Given the description of an element on the screen output the (x, y) to click on. 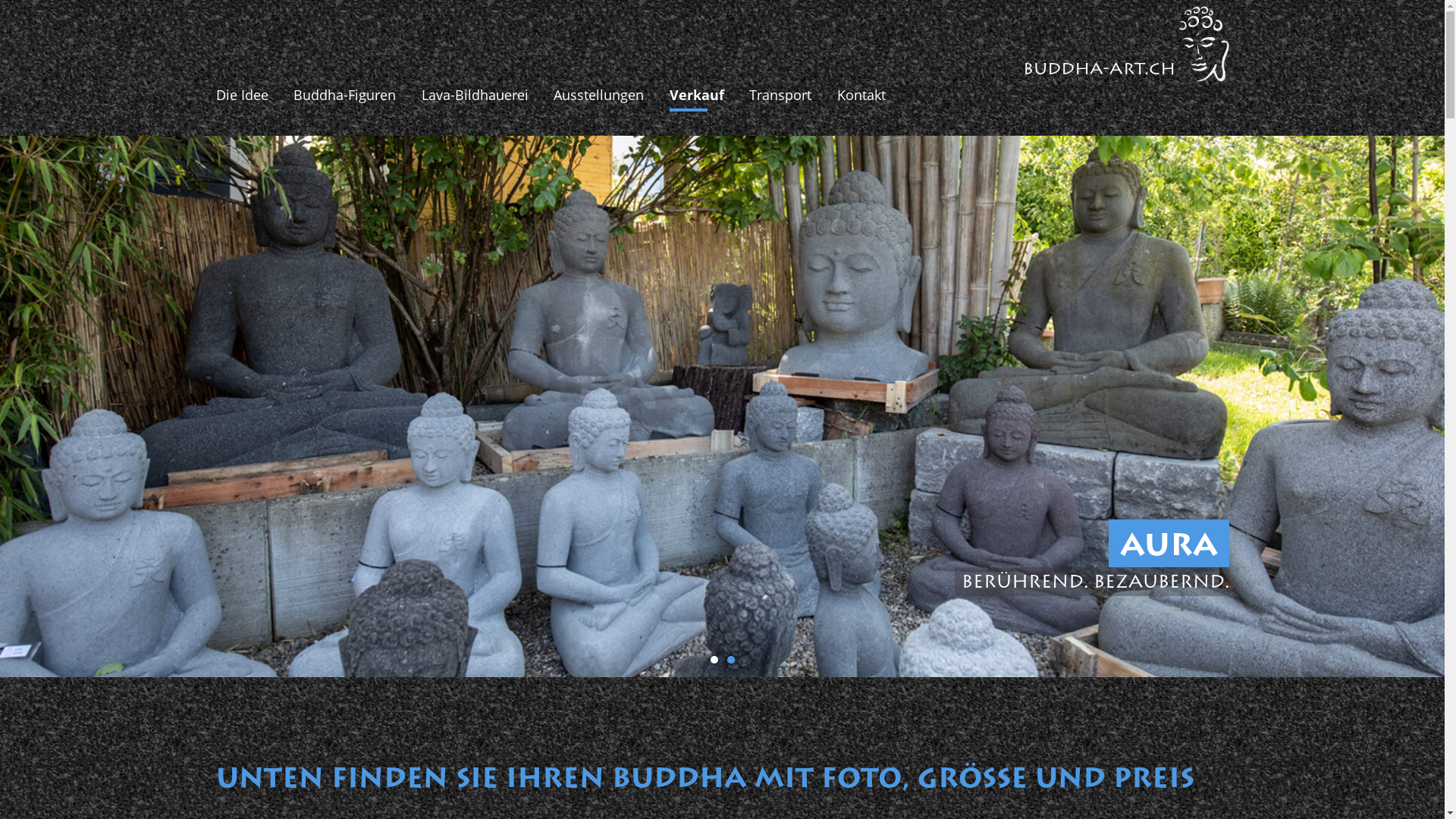
Lava-Bildhauerei Element type: text (474, 94)
Buddha-Figuren Element type: text (344, 94)
Die Idee Element type: text (241, 94)
Kontakt Element type: text (861, 94)
BUDDHA-ART.CH Element type: text (1125, 43)
Transport Element type: text (780, 94)
Ausstellungen Element type: text (598, 94)
Verkauf Element type: text (696, 94)
